Given the description of an element on the screen output the (x, y) to click on. 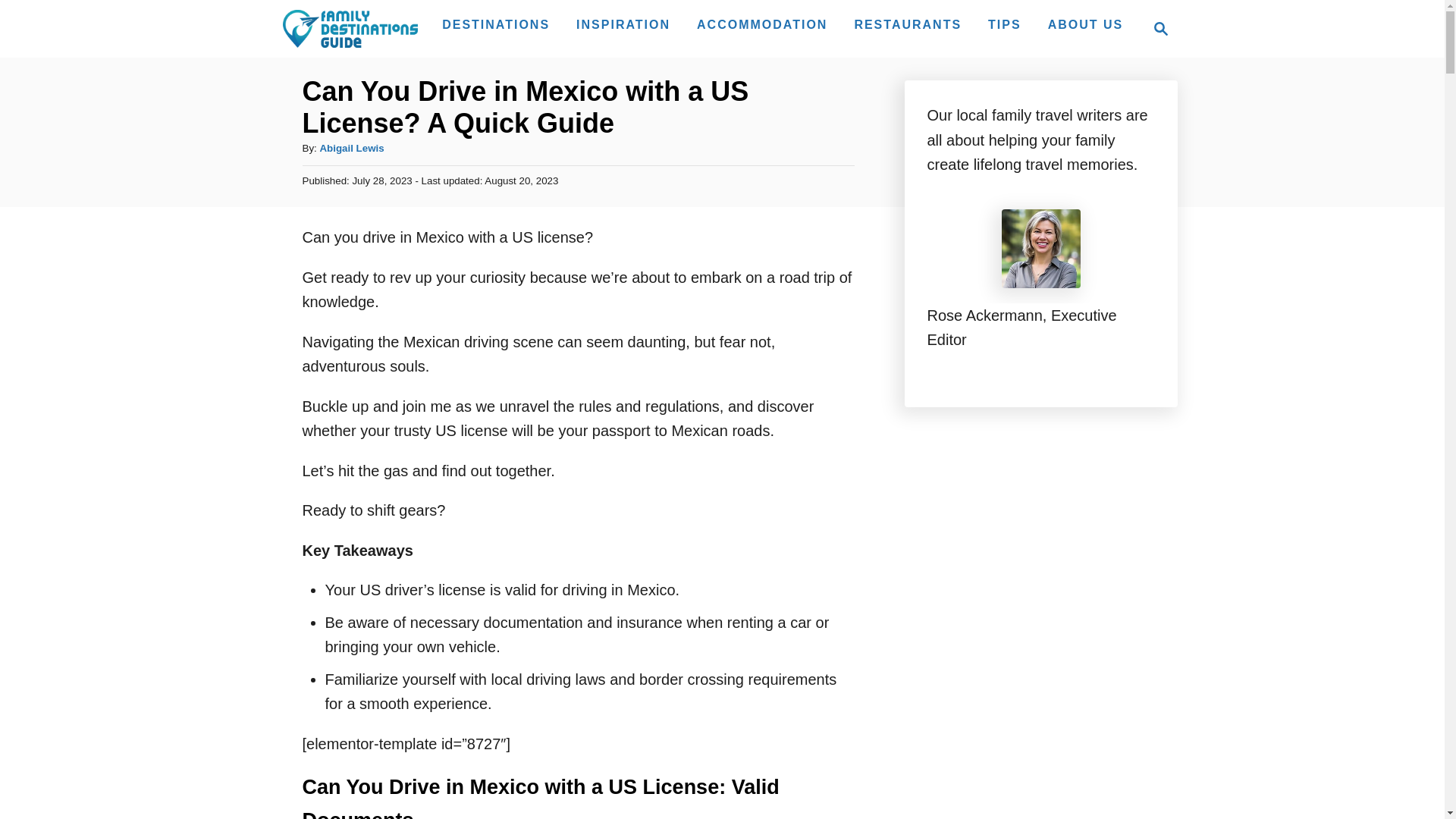
Family Destinations Guide (349, 28)
RESTAURANTS (1155, 28)
INSPIRATION (907, 24)
Magnifying Glass (623, 24)
Abigail Lewis (1160, 28)
ACCOMMODATION (351, 147)
TIPS (761, 24)
ABOUT US (1004, 24)
DESTINATIONS (1086, 24)
